Given the description of an element on the screen output the (x, y) to click on. 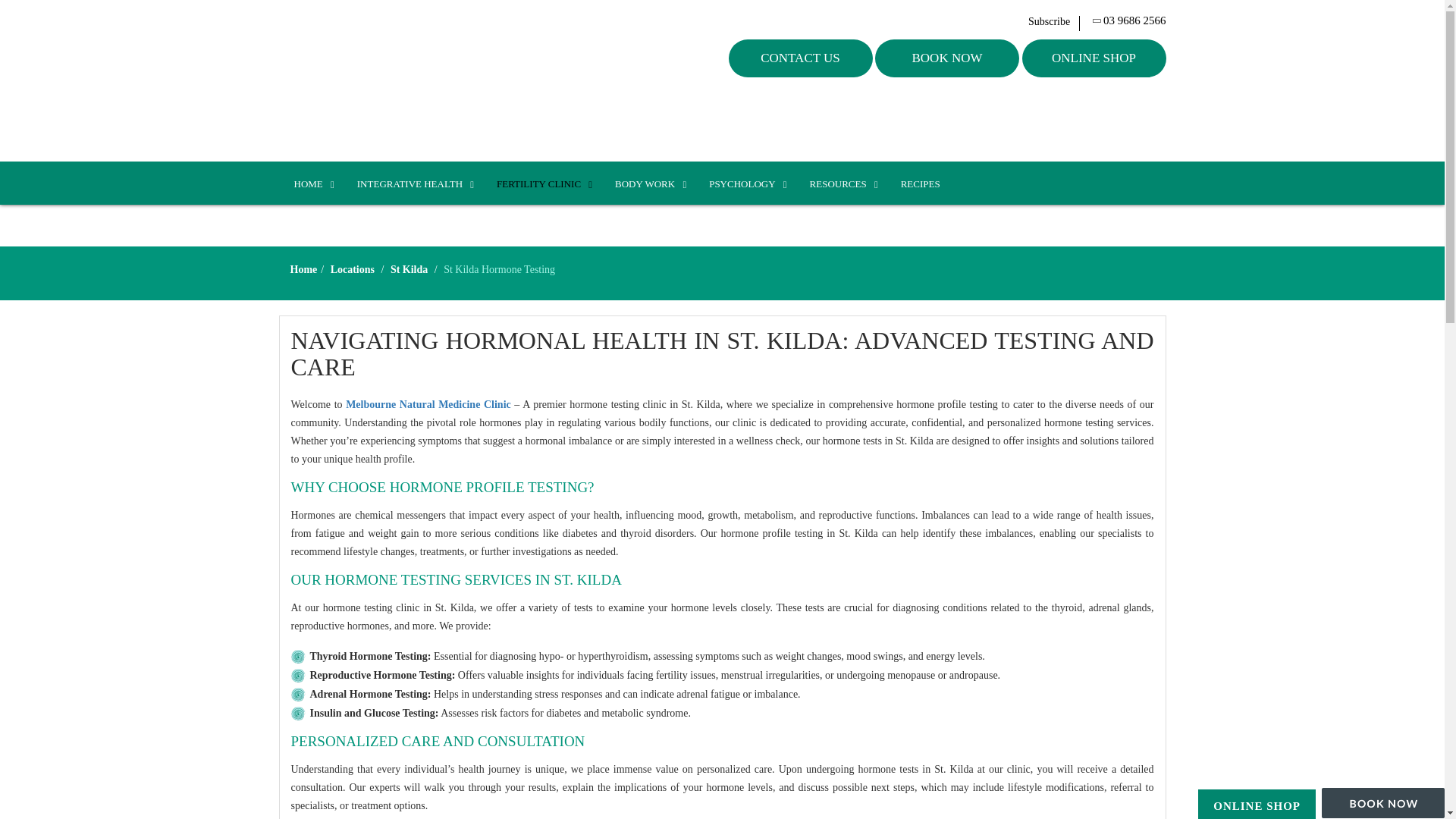
INTEGRATIVE HEALTH (411, 183)
ONLINE SHOP (1094, 57)
Book Now (947, 57)
Contact Us (800, 57)
Online Shop (1256, 806)
03 9686 2566 (1130, 21)
HOME (310, 183)
CONTACT US (800, 57)
Natural Medicine Dispensary (379, 79)
Subscribe (1053, 21)
